Given the description of an element on the screen output the (x, y) to click on. 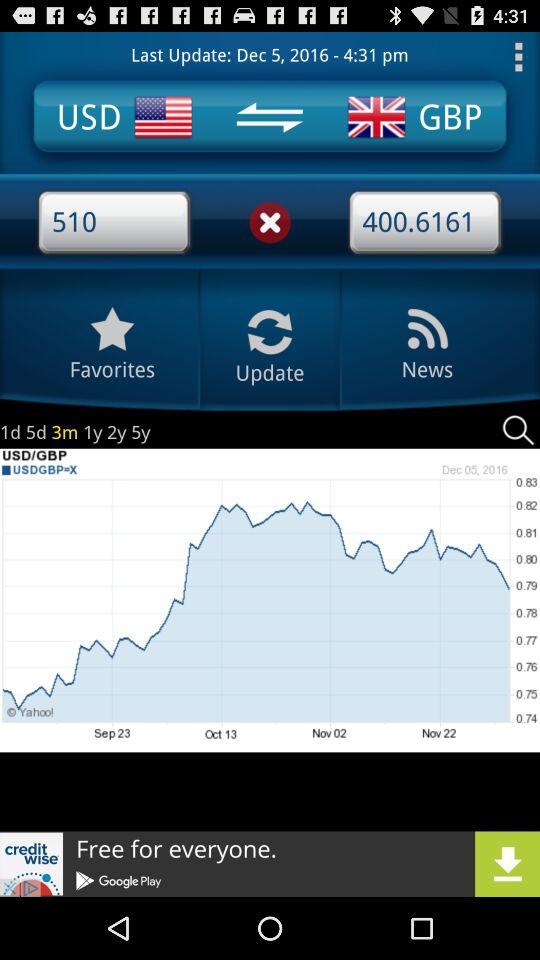
switch currency (269, 117)
